Given the description of an element on the screen output the (x, y) to click on. 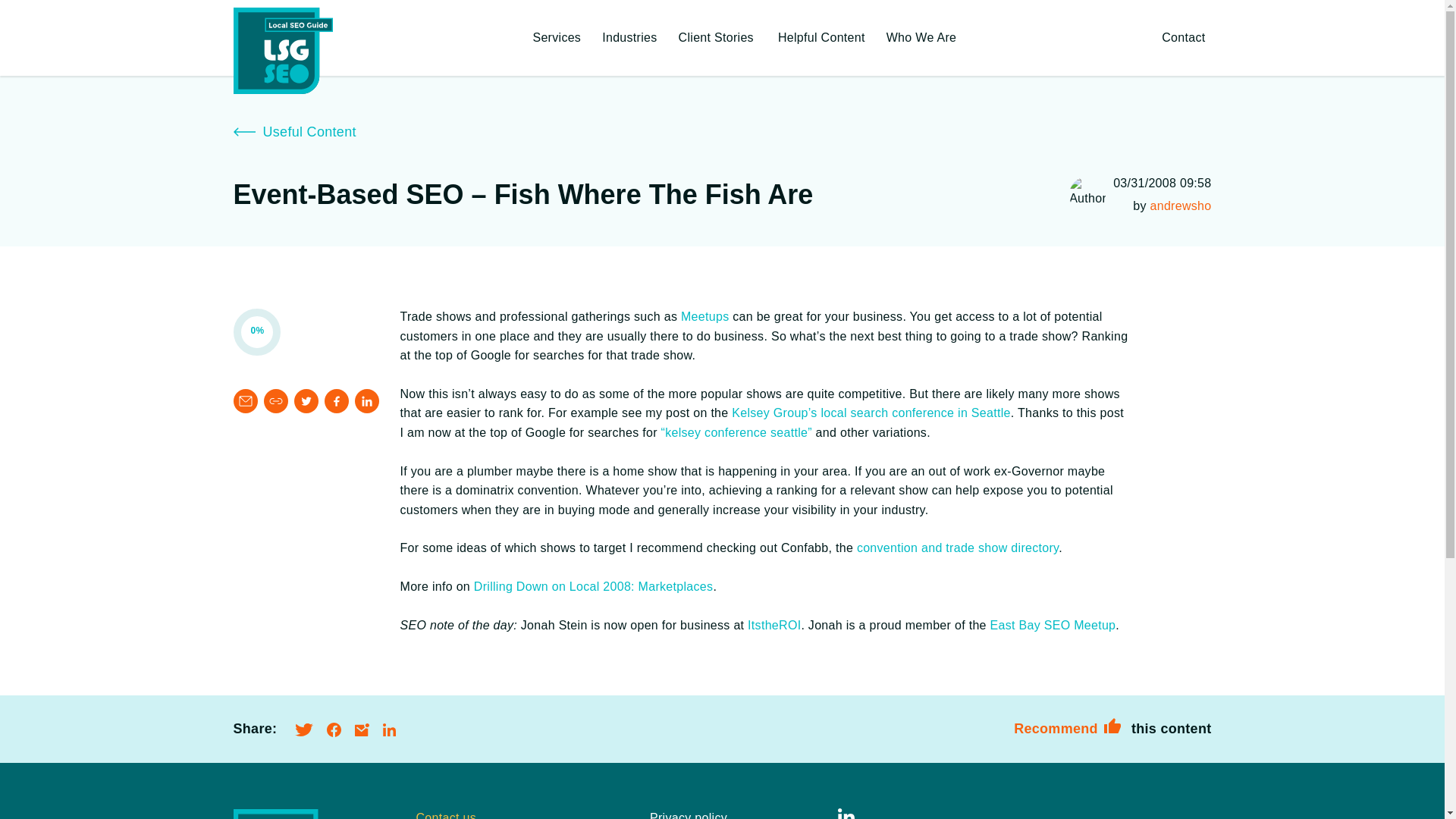
Helpful Content (820, 37)
Services (554, 37)
Industries (627, 37)
Client Stories (715, 37)
